Given the description of an element on the screen output the (x, y) to click on. 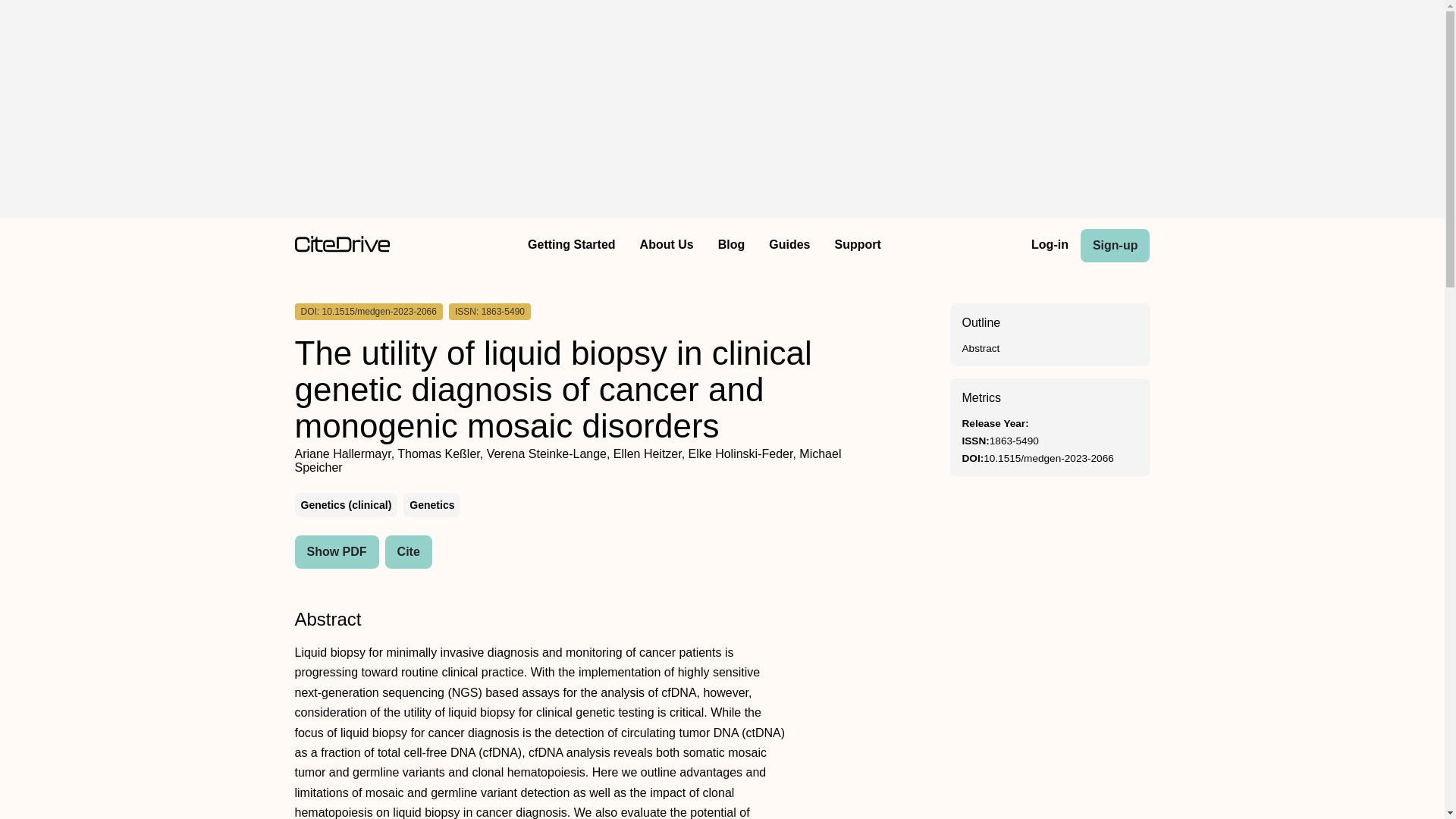
Show PDF (336, 551)
Getting Started (571, 245)
Support (857, 245)
Blog (731, 245)
Log-in (1049, 245)
Guides (789, 245)
Abstract (979, 348)
Cite (408, 551)
About Us (666, 245)
Sign-up (1115, 245)
